Given the description of an element on the screen output the (x, y) to click on. 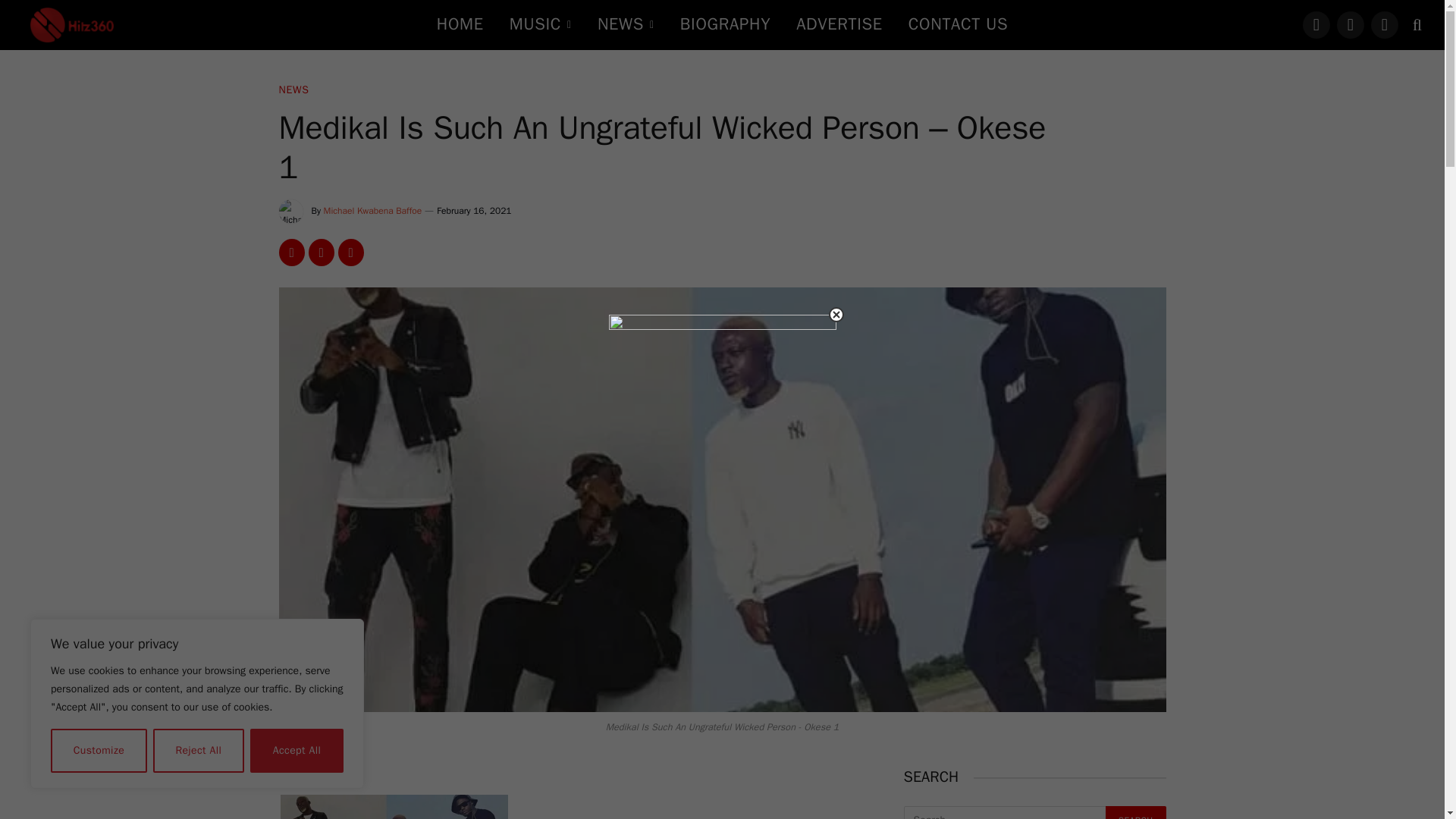
Search (1135, 812)
Accept All (296, 750)
Reject All (198, 750)
BIOGRAPHY (724, 24)
NEWS (625, 24)
CONTACT US (957, 24)
HOME (459, 24)
MUSIC (540, 24)
Posts by Michael Kwabena Baffoe (372, 210)
Share on WhatsApp (320, 252)
Search (1135, 812)
Hitz360.com (71, 24)
ADVERTISE (839, 24)
Customize (98, 750)
Medikal Is Such An Ungrateful Wicked Person - Okese 1 (394, 806)
